Given the description of an element on the screen output the (x, y) to click on. 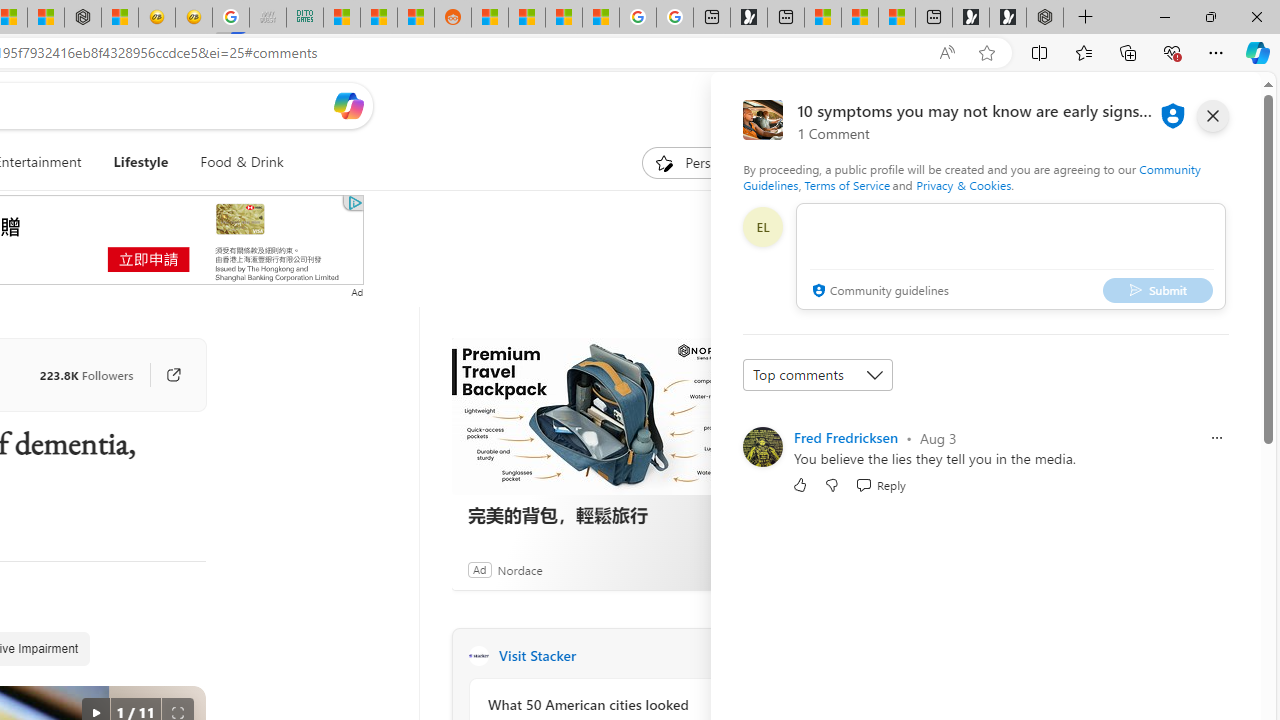
Like (799, 484)
Stacker (478, 655)
DITOGAMES AG Imprint (304, 17)
Profile Picture (762, 446)
Open settings (1216, 105)
comment-box (1011, 256)
